Given the description of an element on the screen output the (x, y) to click on. 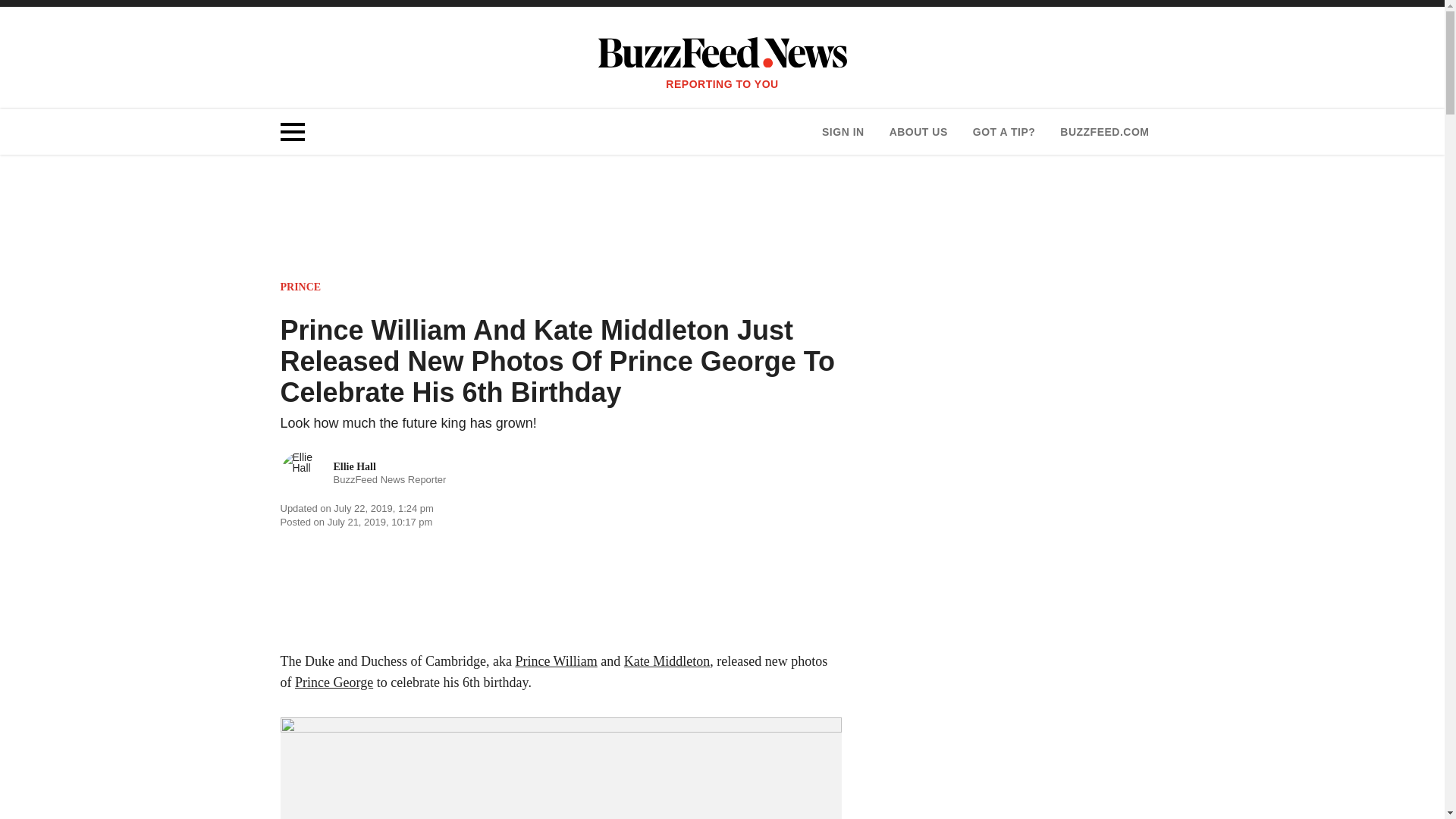
Kate Middleton (667, 661)
PRINCE (301, 286)
Prince George (333, 682)
Prince William (555, 661)
GOT A TIP? (1003, 131)
BUZZFEED.COM (363, 474)
ABOUT US (1103, 131)
SIGN IN (917, 131)
